Given the description of an element on the screen output the (x, y) to click on. 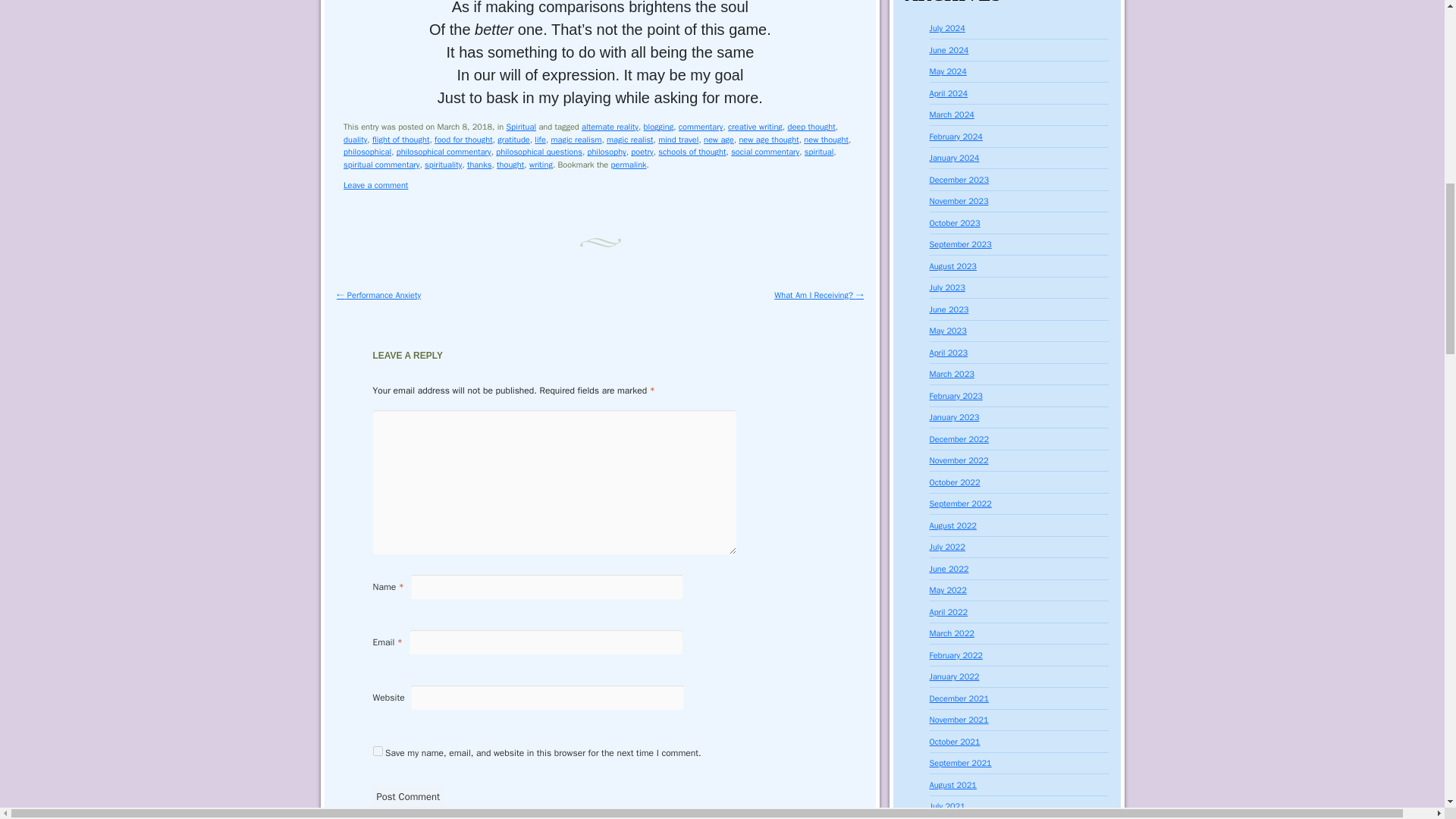
philosophical (367, 151)
philosophy (606, 151)
new thought (825, 139)
writing (541, 163)
gratitude (513, 139)
philosophical questions (539, 151)
duality (354, 139)
permalink (628, 163)
creative writing (755, 126)
philosophical commentary (444, 151)
spirituality (443, 163)
yes (377, 750)
Spiritual (521, 126)
commentary (700, 126)
poetry (641, 151)
